Given the description of an element on the screen output the (x, y) to click on. 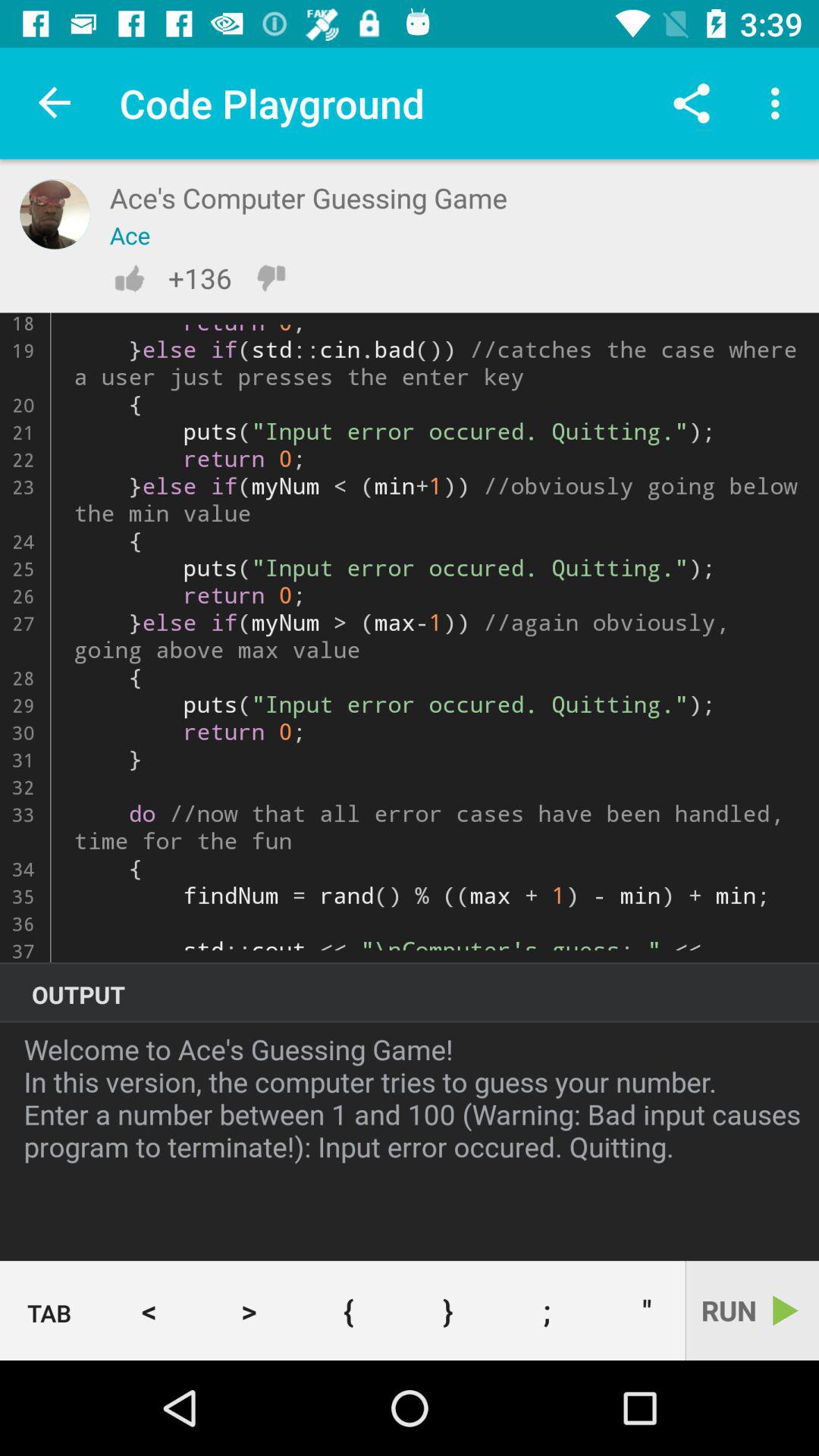
tap item to the left of the +136 icon (129, 277)
